Given the description of an element on the screen output the (x, y) to click on. 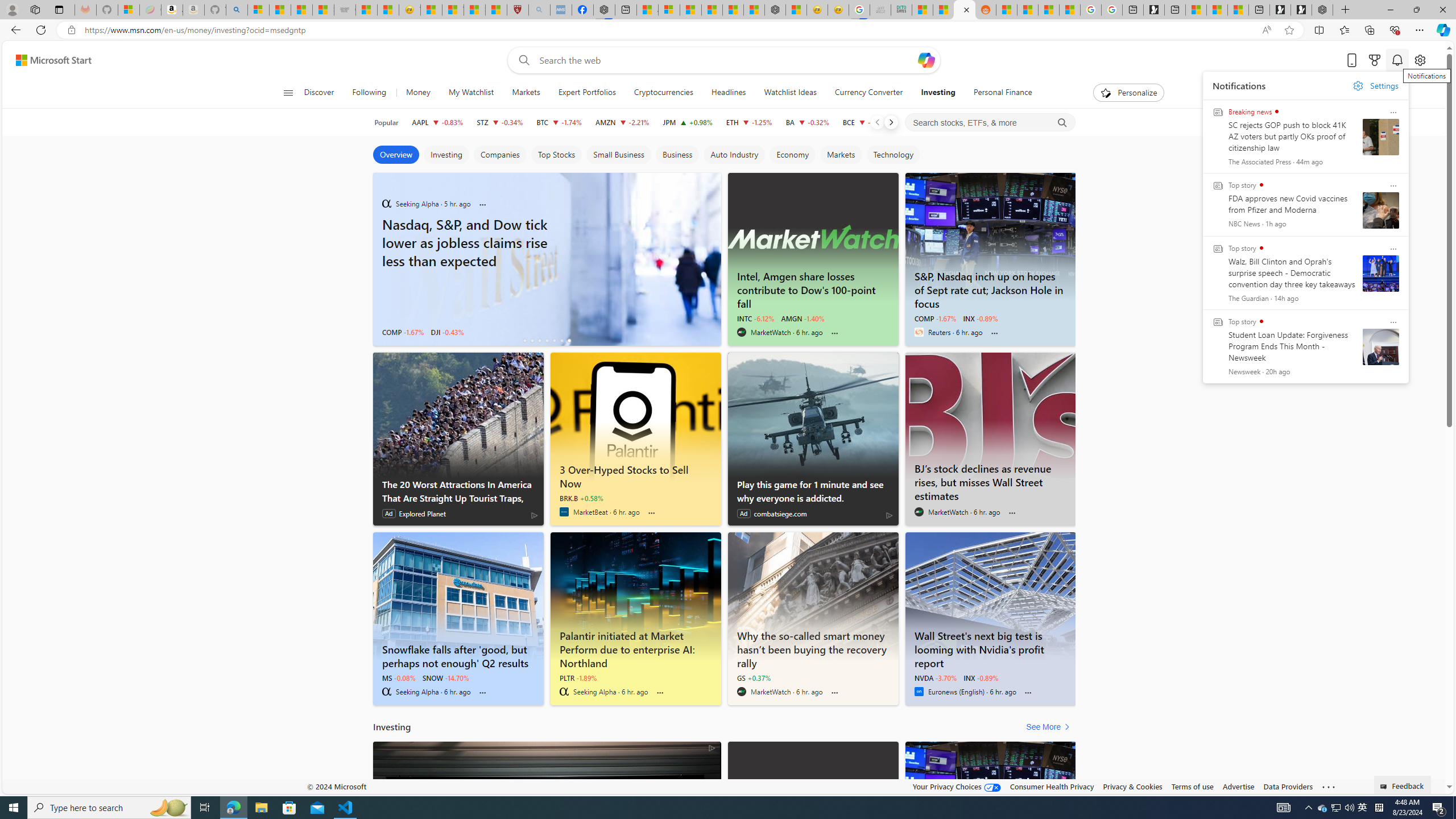
Euronews (English) (918, 691)
Card Action (1393, 322)
Money (417, 92)
Next (890, 122)
Cryptocurrencies (663, 92)
Open Copilot (926, 59)
Small Business (617, 154)
Address and search bar (669, 29)
